Given the description of an element on the screen output the (x, y) to click on. 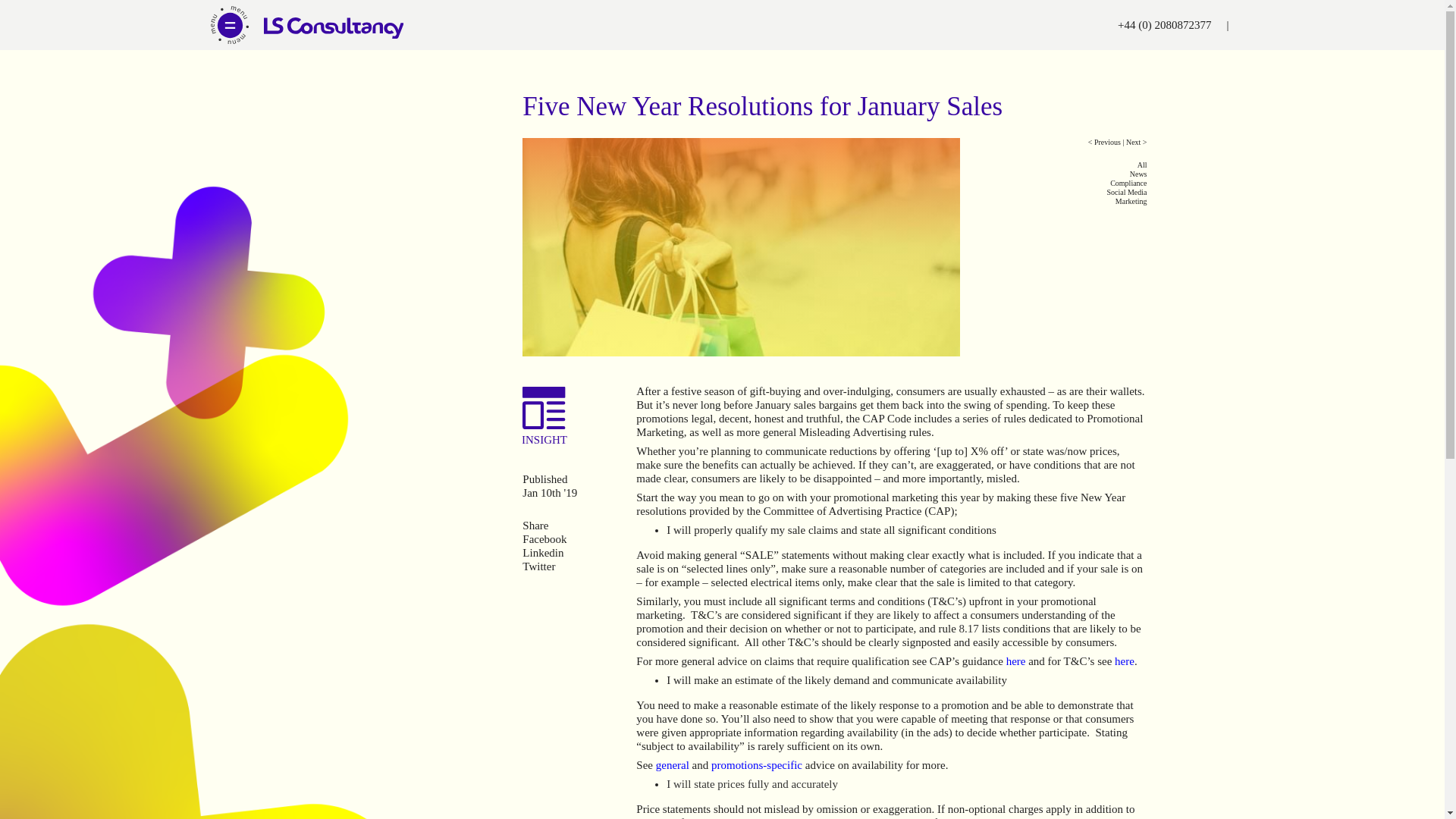
here (1016, 661)
Twitter (538, 566)
Linkedin (542, 552)
Social Media (1053, 192)
general (672, 765)
All (1053, 164)
INSIGHT (545, 441)
Marketing (1053, 201)
promotions-specific (756, 765)
Facebook (544, 539)
